Given the description of an element on the screen output the (x, y) to click on. 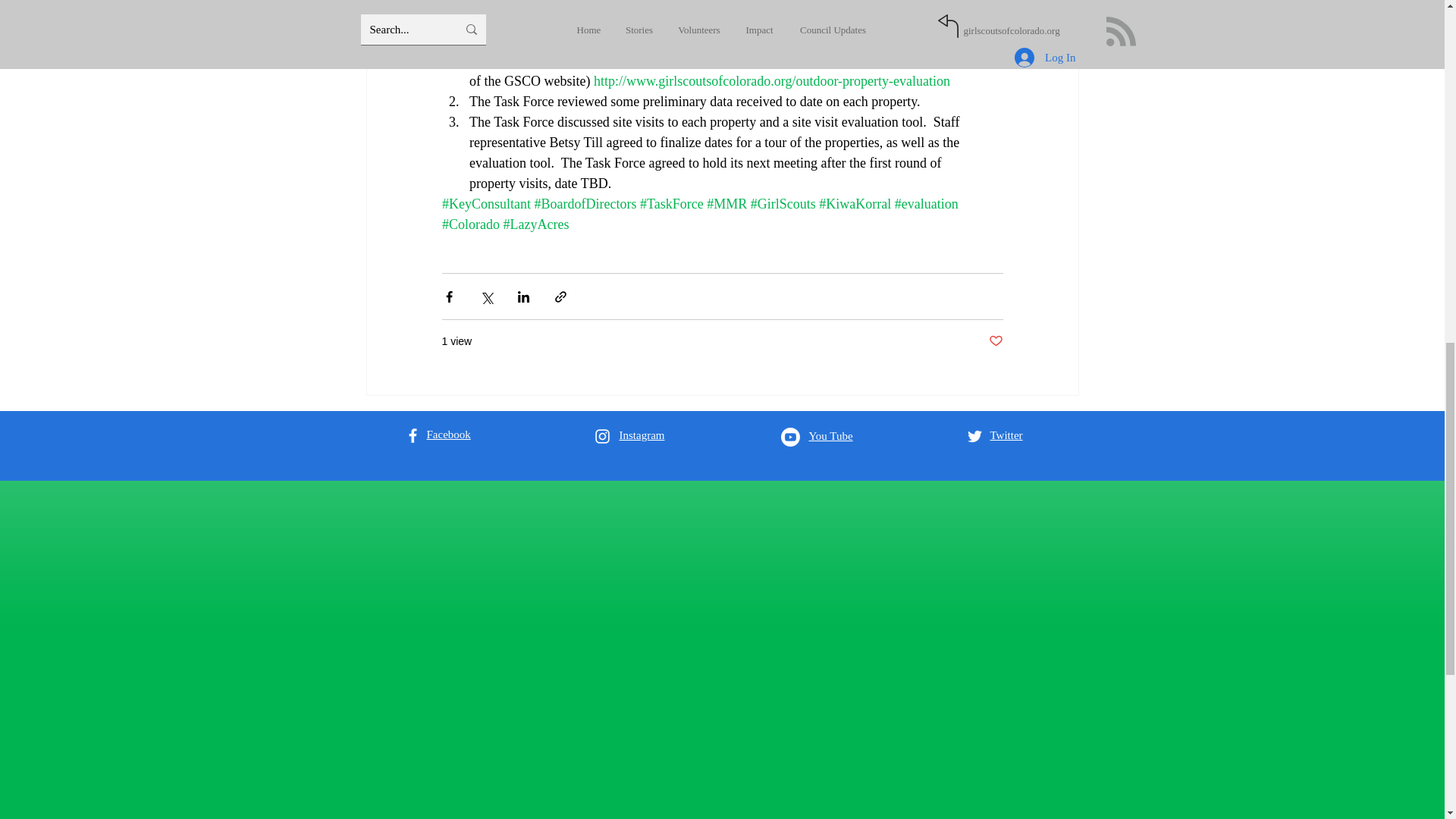
Post not marked as liked (995, 341)
Properties  (924, 60)
Facebook (448, 434)
Instagram (640, 435)
